Given the description of an element on the screen output the (x, y) to click on. 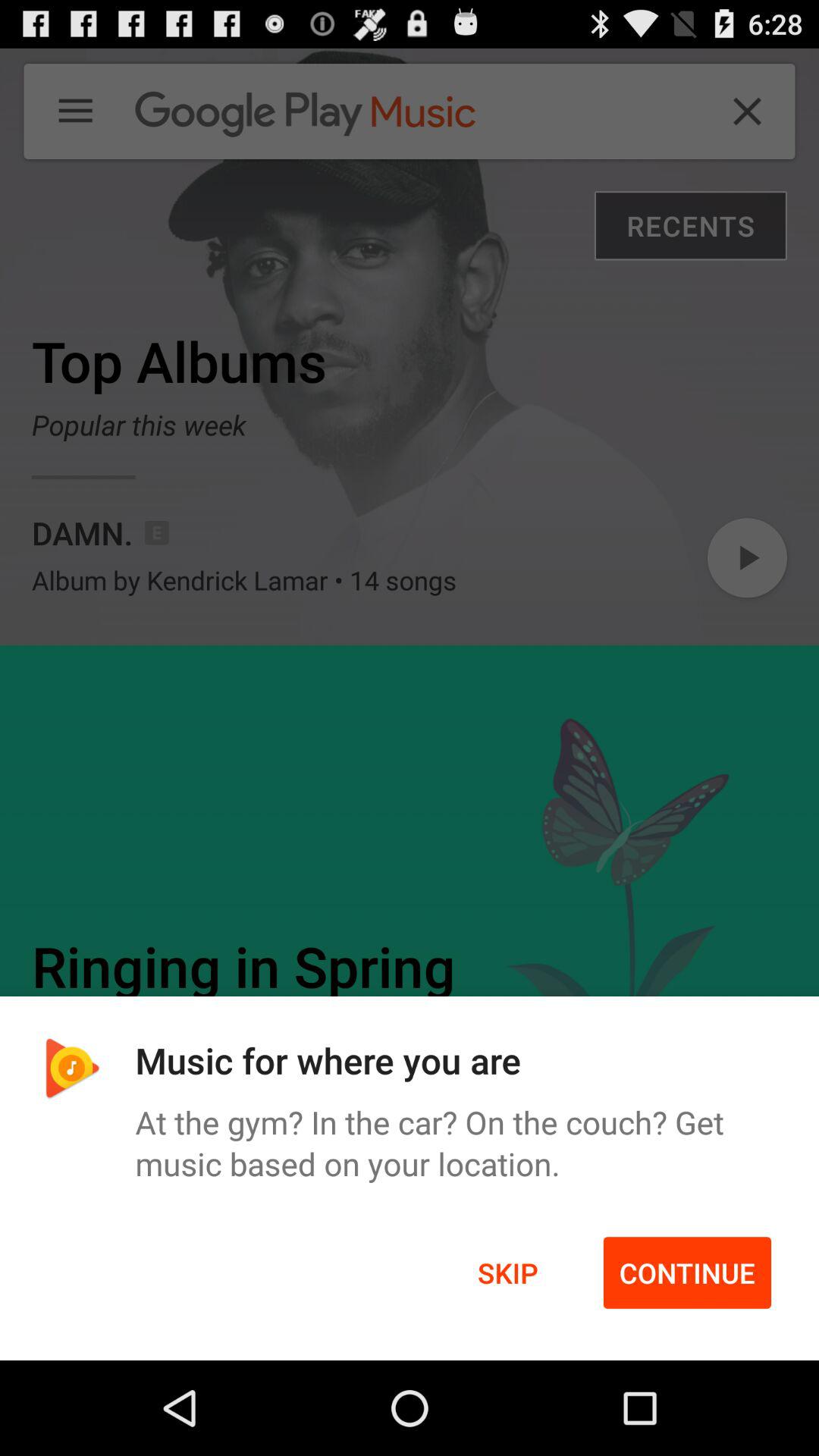
turn on the continue at the bottom right corner (687, 1272)
